Given the description of an element on the screen output the (x, y) to click on. 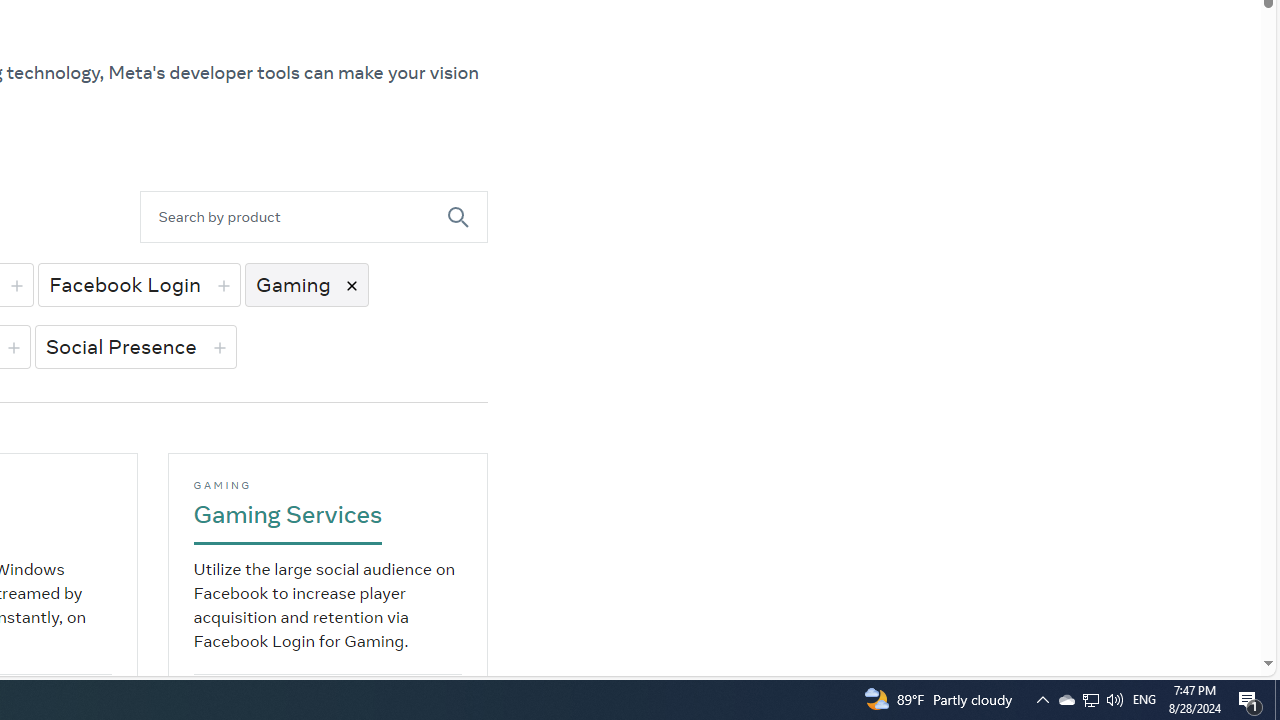
Social Presence (135, 346)
Search by product (293, 216)
Facebook Login (138, 284)
Gaming (306, 284)
